Given the description of an element on the screen output the (x, y) to click on. 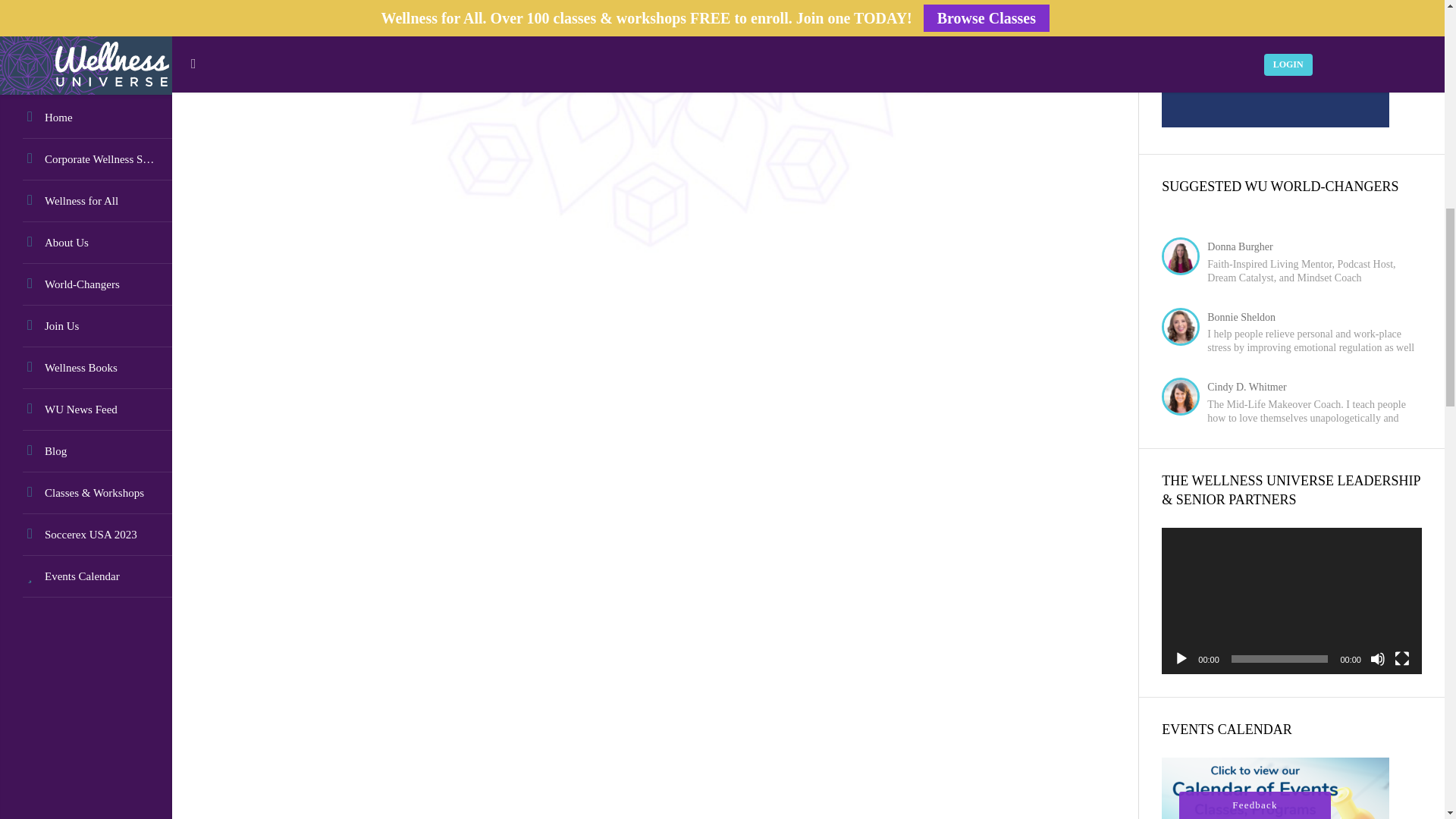
View profile for Bonnie Sheldon (1184, 328)
View profile for Bonnie Sheldon (1241, 317)
View profile for Donna Burgher (1184, 258)
View profile for Donna Burgher (1239, 246)
View profile for Cindy D. Whitmer (1184, 398)
